Given the description of an element on the screen output the (x, y) to click on. 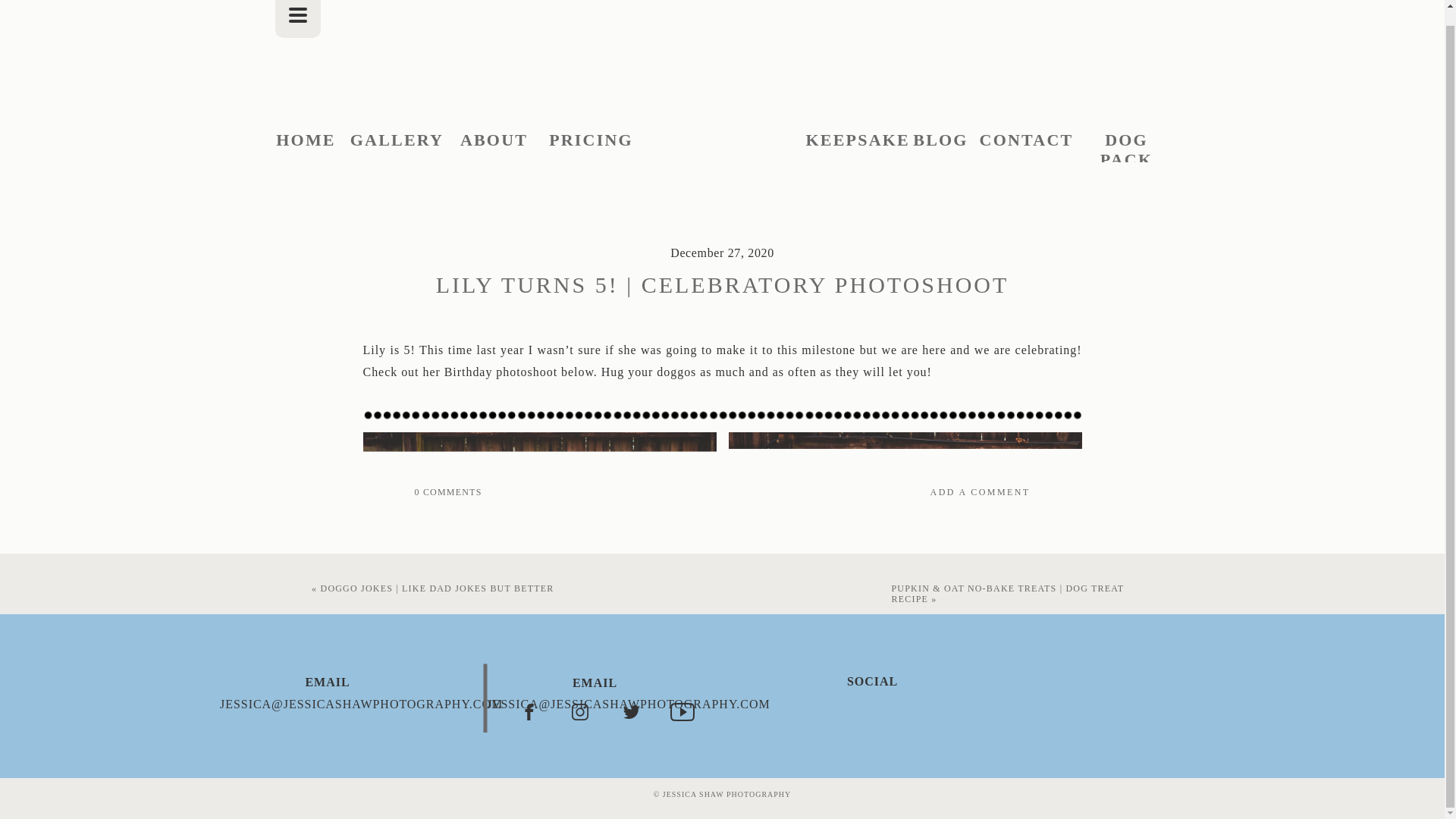
BLOG (939, 140)
KEEPSAKE (853, 140)
HOME (306, 140)
PRICING (591, 140)
DOG PACK (1126, 140)
0 COMMENTS (447, 491)
GALLERY (397, 140)
ADD A COMMENT (883, 491)
ABOUT (494, 140)
CONTACT (1026, 140)
